Given the description of an element on the screen output the (x, y) to click on. 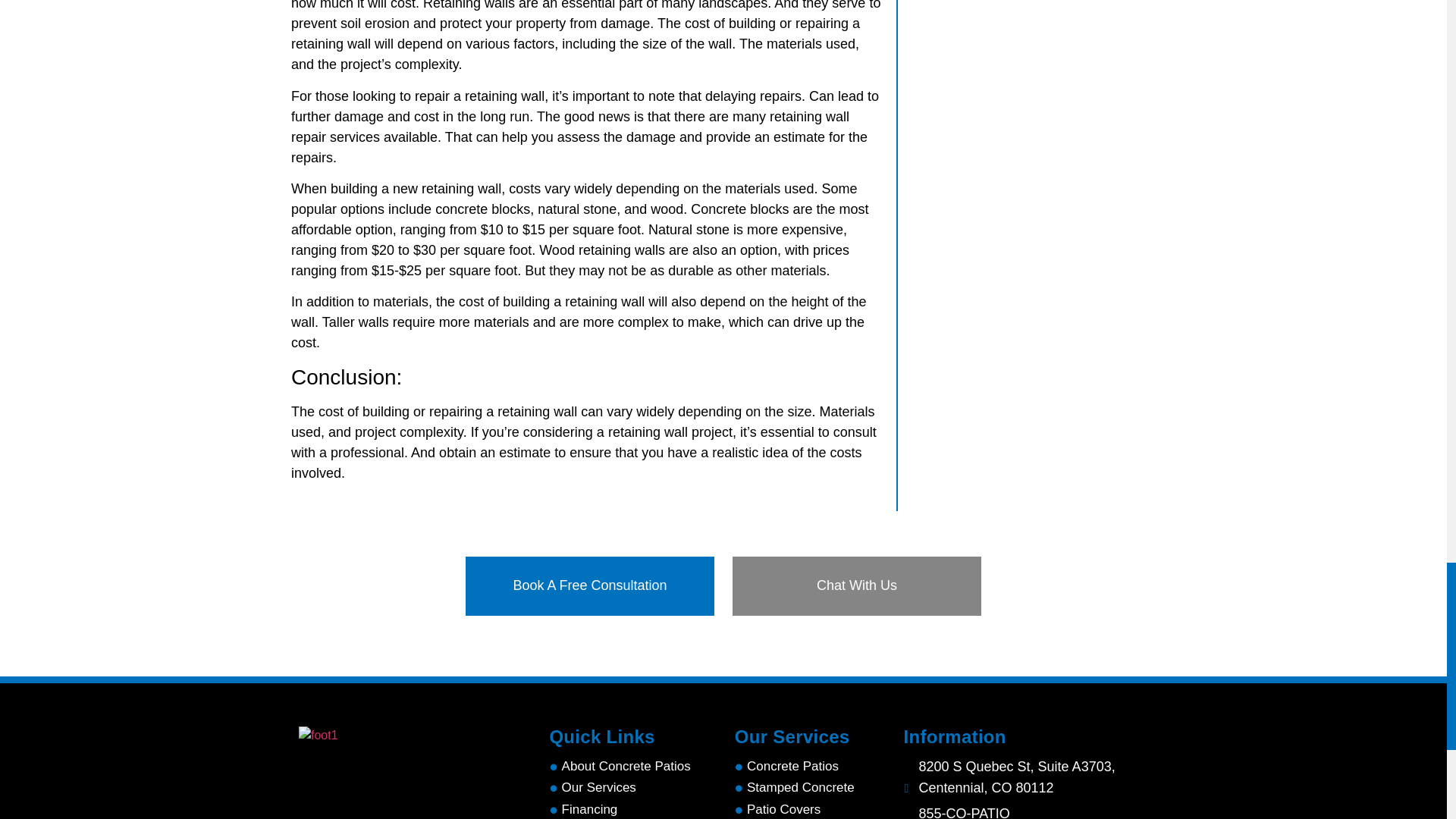
About Concrete Patios (626, 766)
Book A Free Consultation (589, 585)
Chat With Us (856, 585)
